Given the description of an element on the screen output the (x, y) to click on. 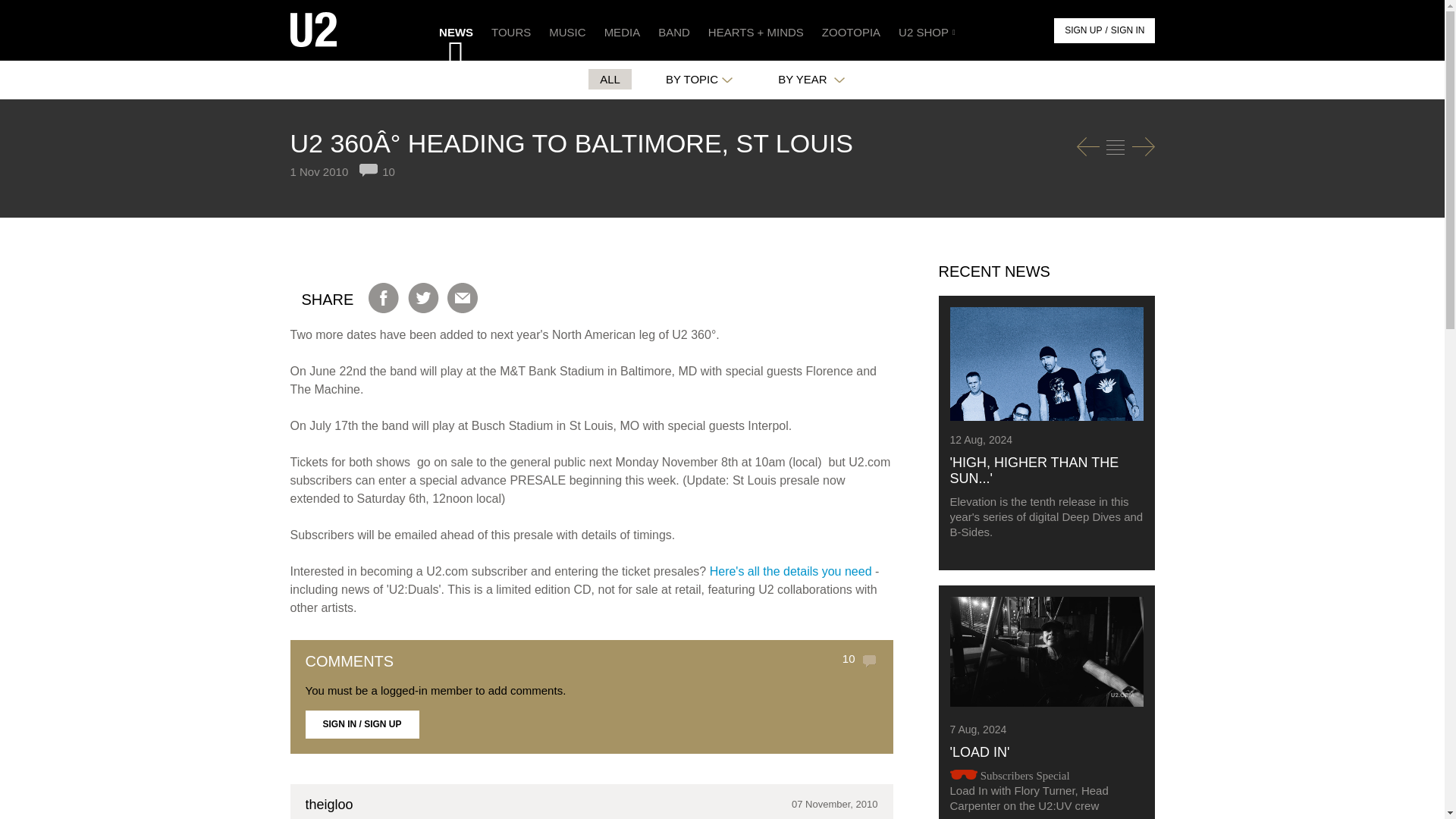
SIGN UP (1083, 30)
Music (567, 30)
MEDIA (622, 30)
TOURS (510, 30)
BY TOPIC (698, 78)
U2 Shop (924, 30)
SIGN IN (1128, 30)
Media (622, 30)
U2 SHOP (924, 30)
Zootopia (850, 30)
